Given the description of an element on the screen output the (x, y) to click on. 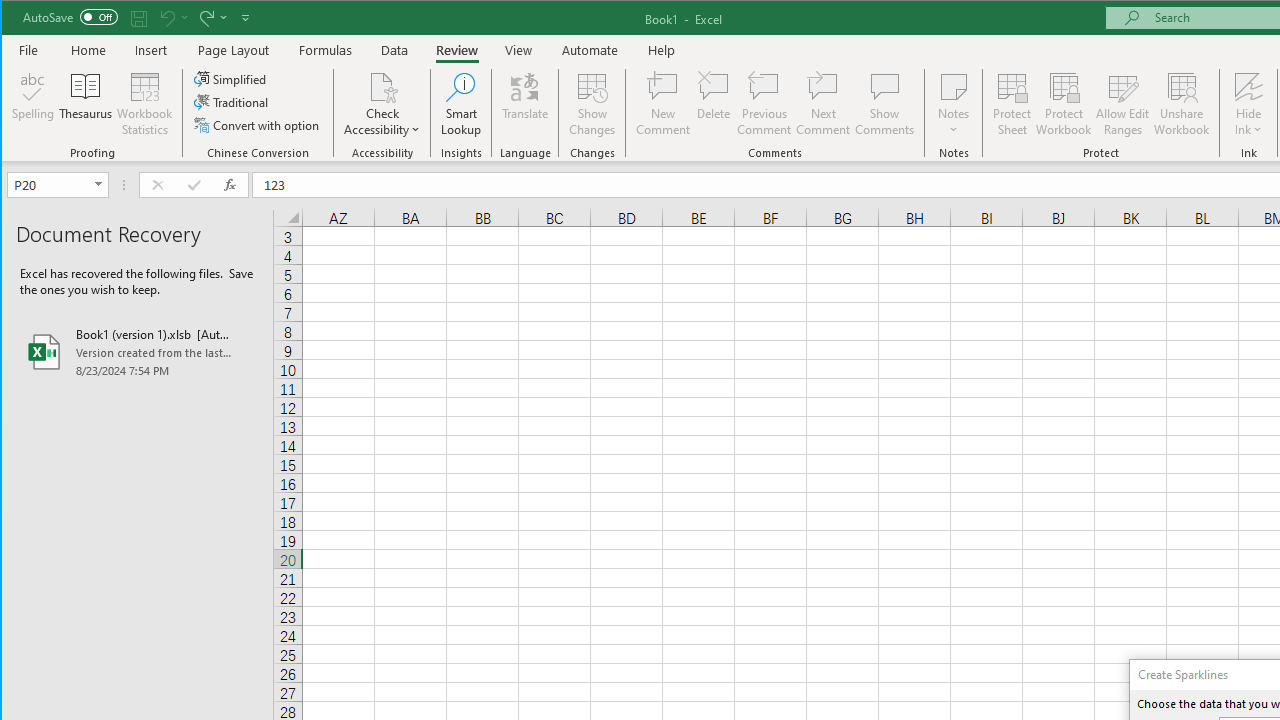
Spelling... (33, 104)
